Given the description of an element on the screen output the (x, y) to click on. 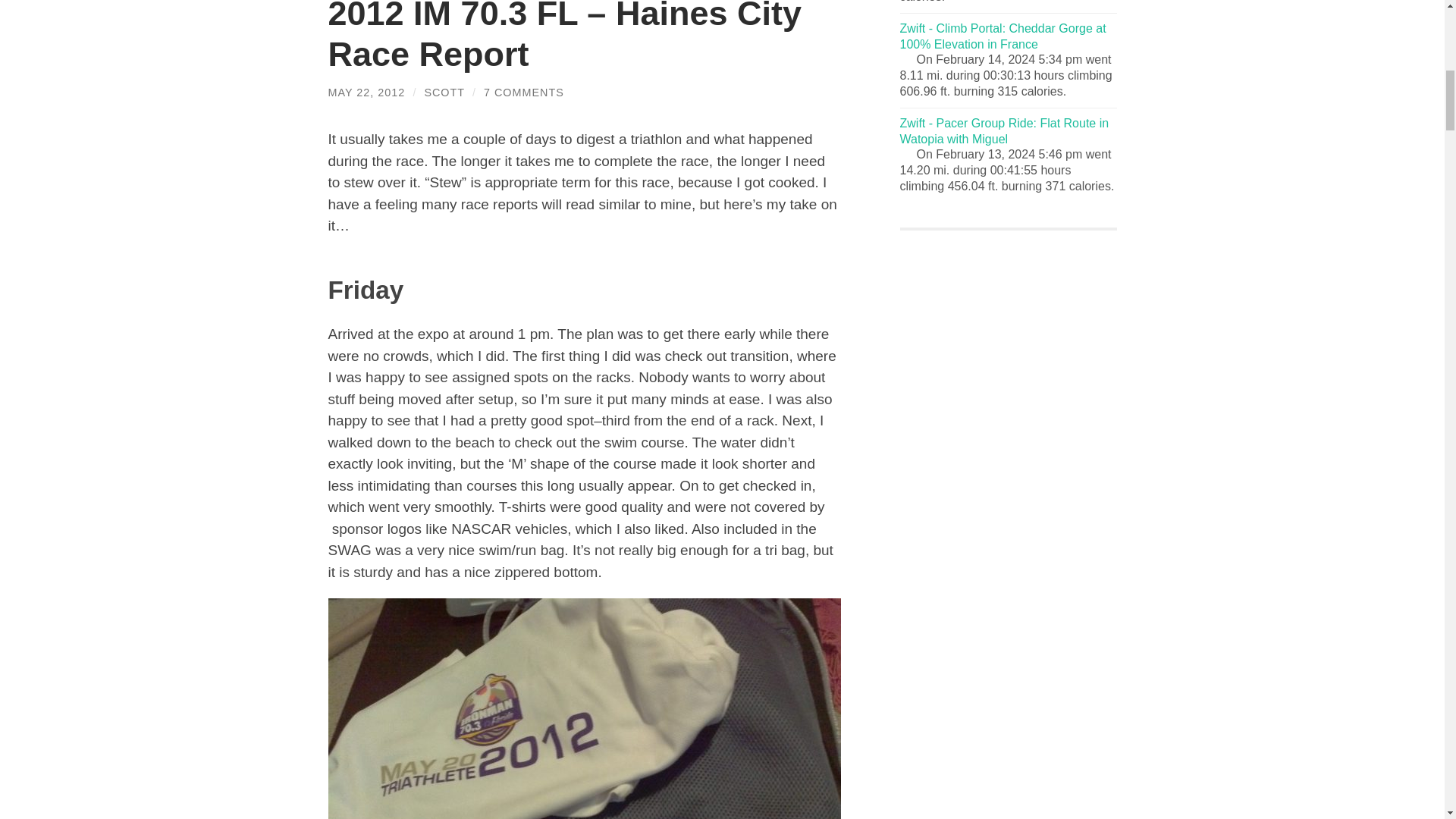
7 COMMENTS (523, 92)
Posts by Scott (443, 92)
MAY 22, 2012 (365, 92)
SCOTT (443, 92)
